Given the description of an element on the screen output the (x, y) to click on. 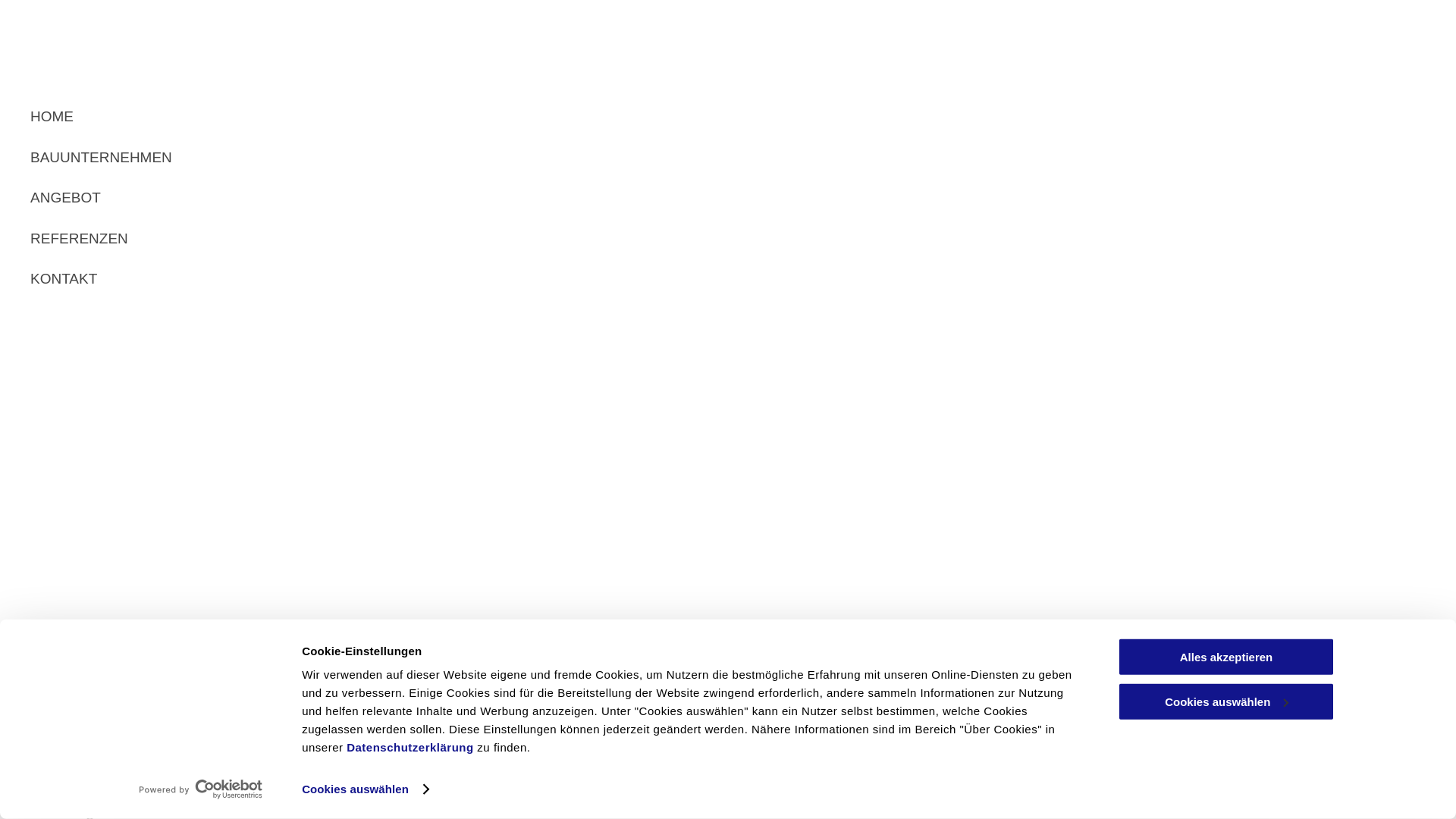
BAUUNTERNEHMEN Element type: text (358, 157)
REFERENZEN Element type: text (358, 239)
HOME Element type: text (358, 116)
Alles akzeptieren Element type: text (1225, 656)
ANGEBOT Element type: text (358, 198)
KONTAKT Element type: text (358, 279)
